Given the description of an element on the screen output the (x, y) to click on. 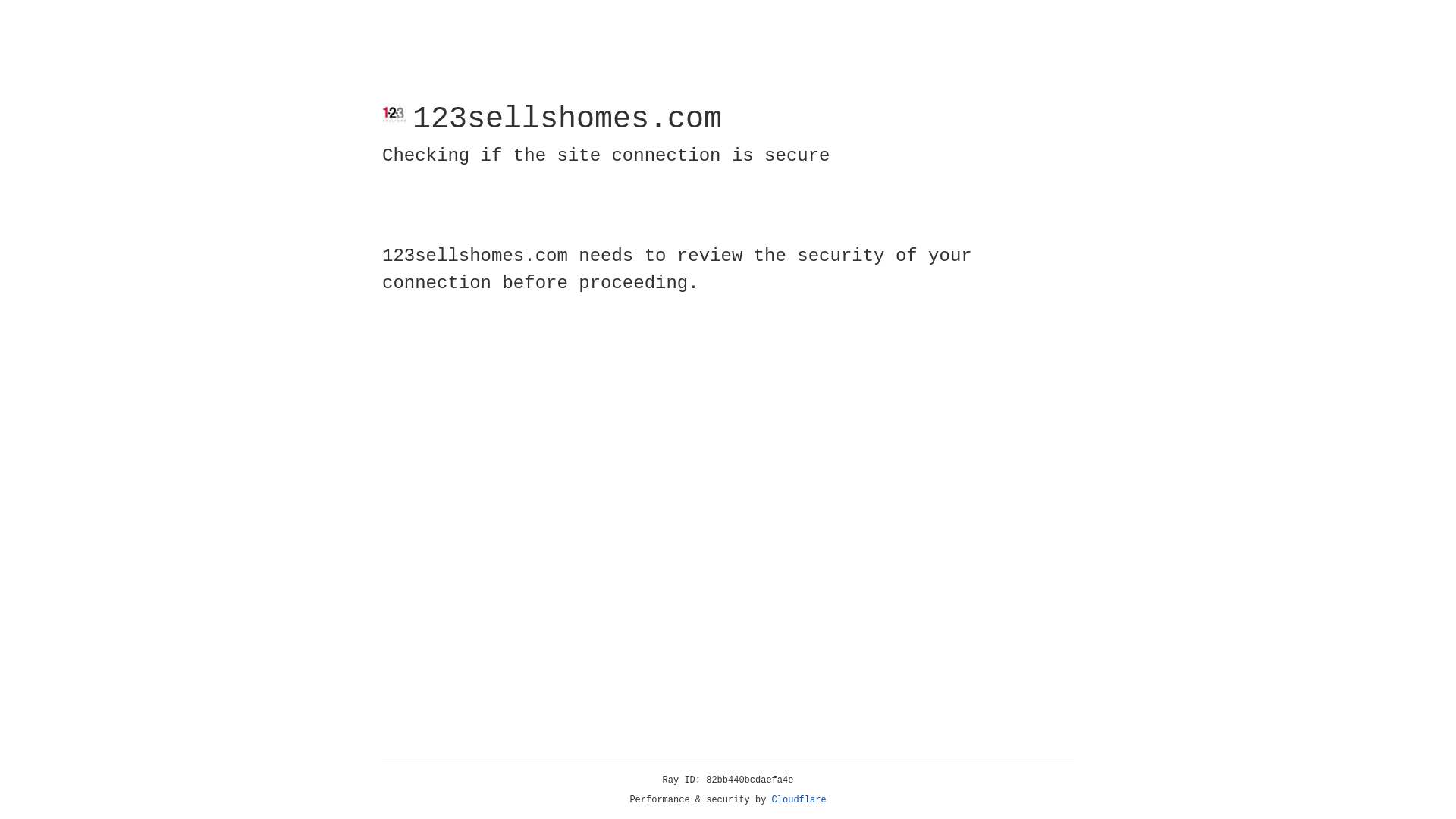
Cloudflare Element type: text (798, 799)
